Given the description of an element on the screen output the (x, y) to click on. 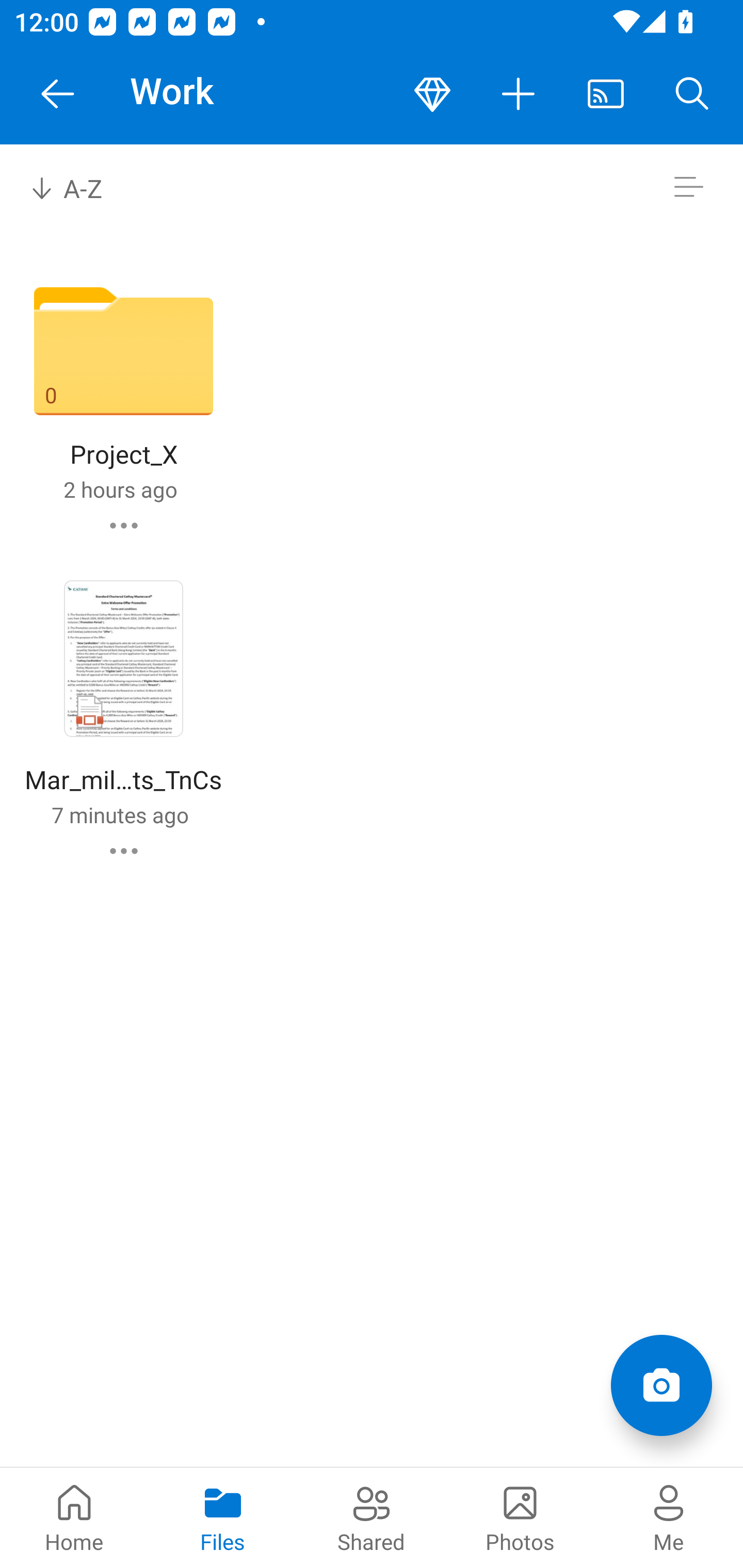
Navigate Up (57, 93)
Cast. Disconnected (605, 93)
Premium button (432, 93)
More actions button (518, 93)
Search button (692, 93)
A-Z Sort by combo box, sort by name, A to Z (80, 187)
Switch to list view (688, 187)
2 hours ago (119, 489)
Project_X commands (123, 525)
7 minutes ago (119, 814)
Mar_miles_cathaycredits_TnCs commands (123, 851)
Add items Scan (660, 1385)
Home pivot Home (74, 1517)
Shared pivot Shared (371, 1517)
Photos pivot Photos (519, 1517)
Me pivot Me (668, 1517)
